Given the description of an element on the screen output the (x, y) to click on. 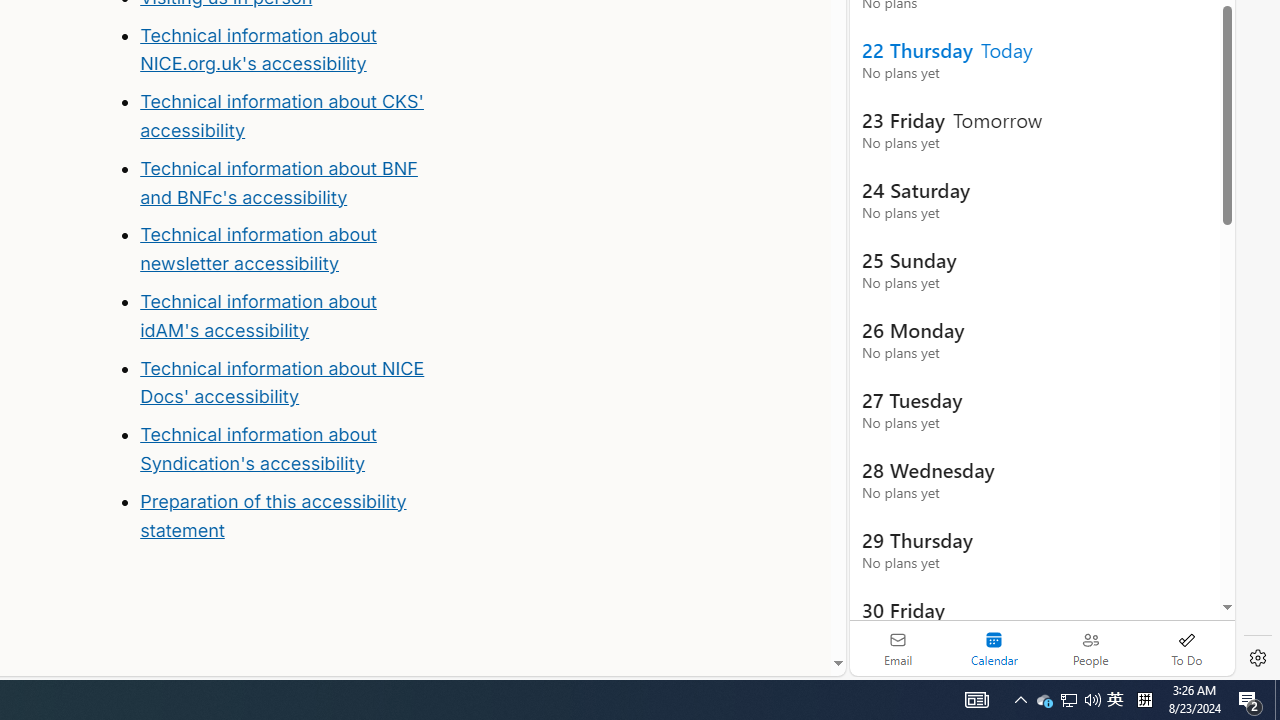
Preparation of this accessibility statement (273, 515)
Technical information about NICE Docs' accessibility (281, 382)
Technical information about NICE.org.uk's accessibility (258, 48)
Technical information about Syndication's accessibility (258, 448)
Technical information about BNF and BNFc's accessibility (278, 182)
Selected calendar module. Date today is 22 (994, 648)
